Given the description of an element on the screen output the (x, y) to click on. 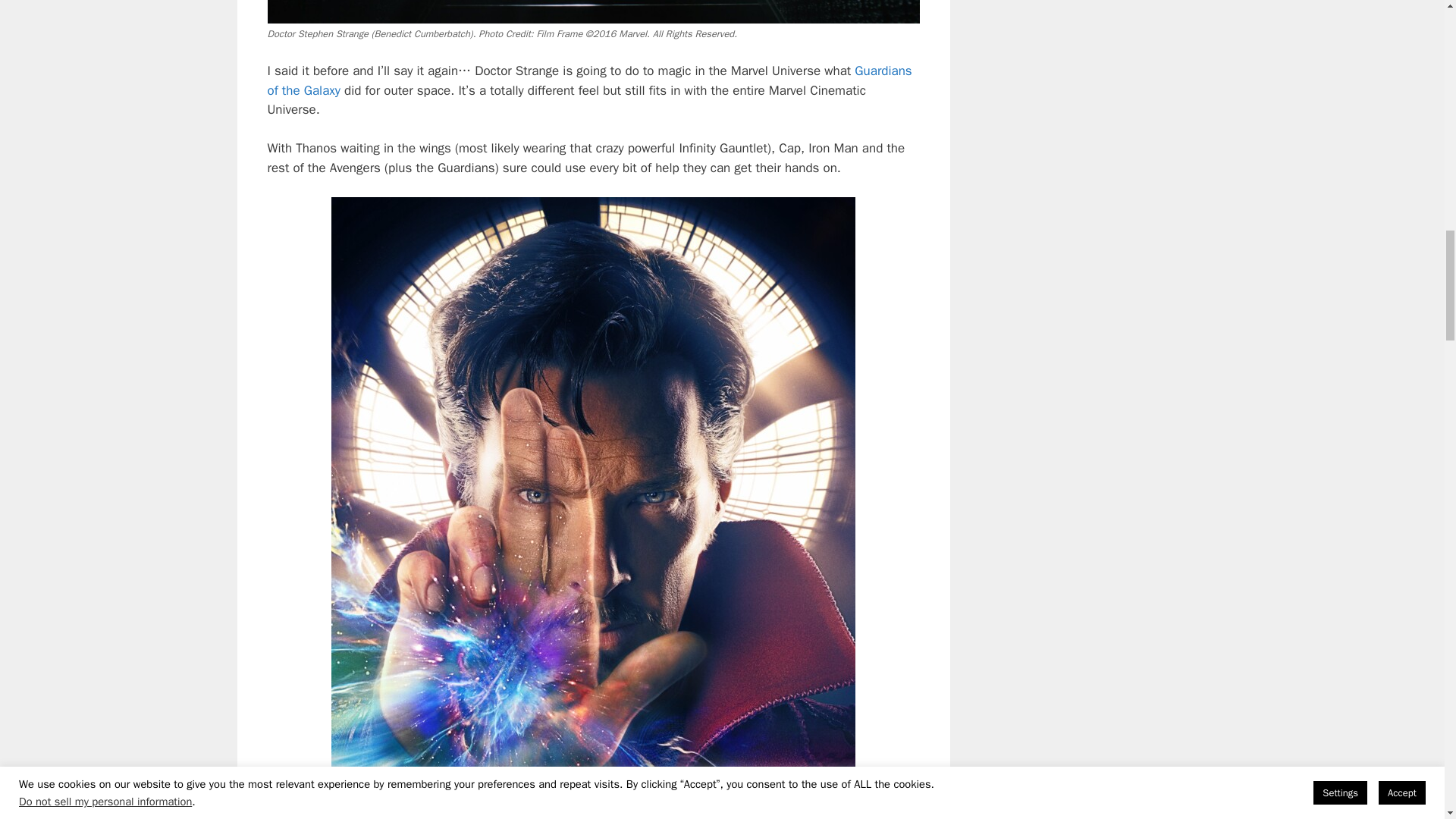
Guardians of the Galaxy (588, 80)
